Given the description of an element on the screen output the (x, y) to click on. 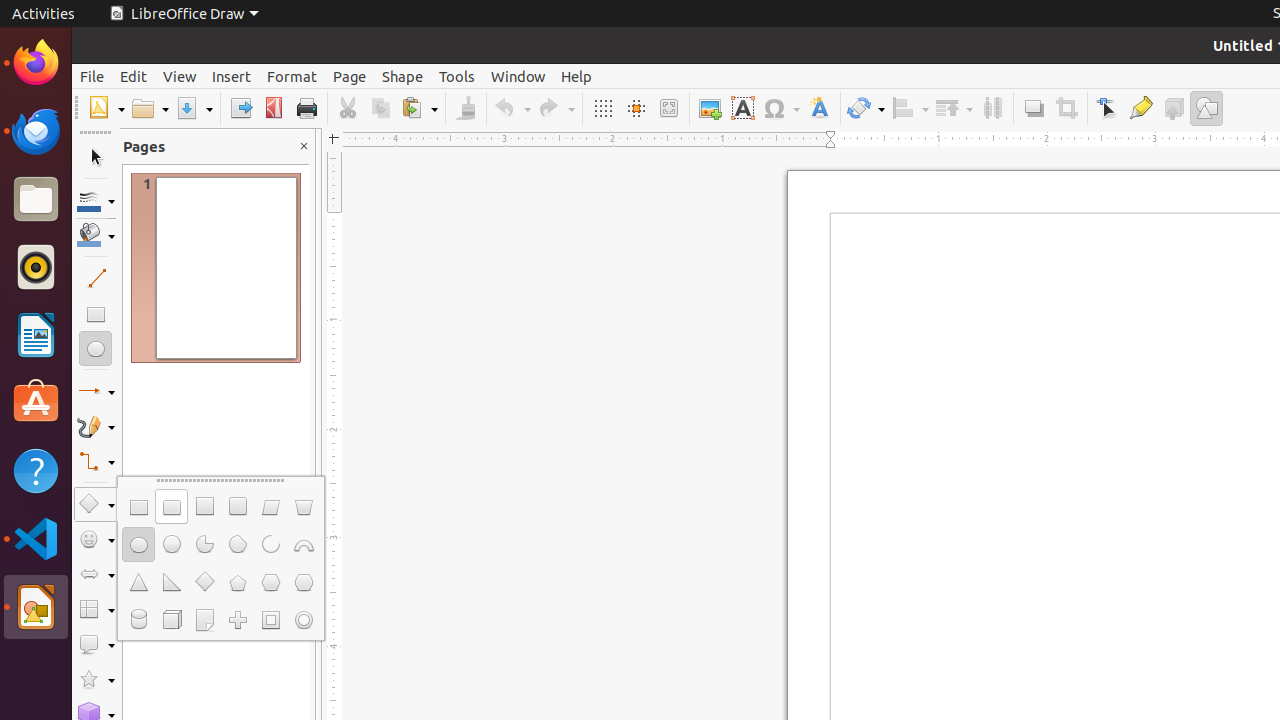
Line Color Element type: push-button (96, 200)
Shadow Element type: toggle-button (1033, 108)
Paste Element type: push-button (419, 108)
Grid Element type: toggle-button (602, 108)
Text Box Element type: push-button (742, 108)
